Given the description of an element on the screen output the (x, y) to click on. 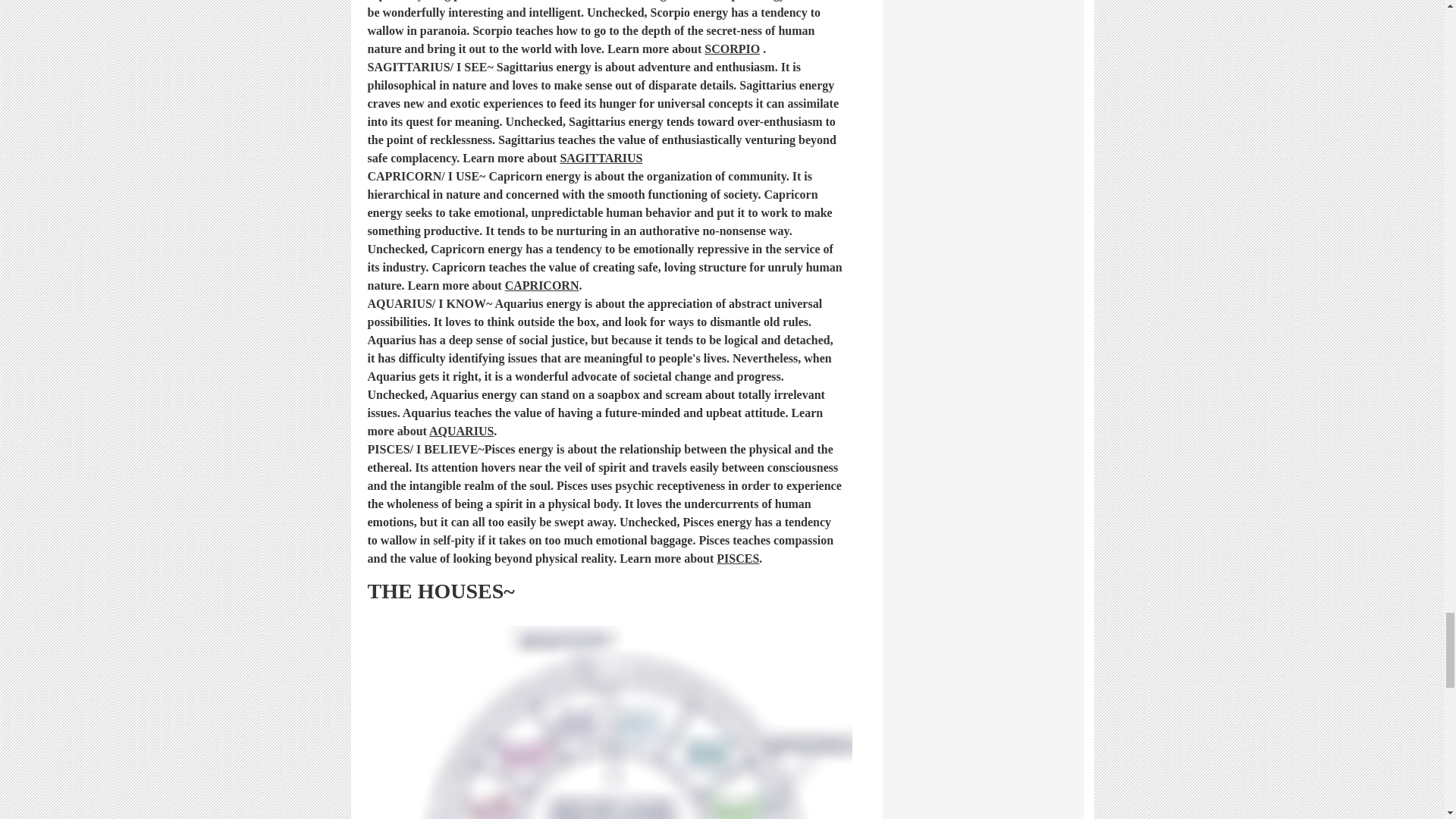
AQUARIUS (461, 432)
CAPRICORN (542, 286)
PISCES (737, 560)
SCORPIO (732, 49)
SAGITTARIUS (600, 159)
